Given the description of an element on the screen output the (x, y) to click on. 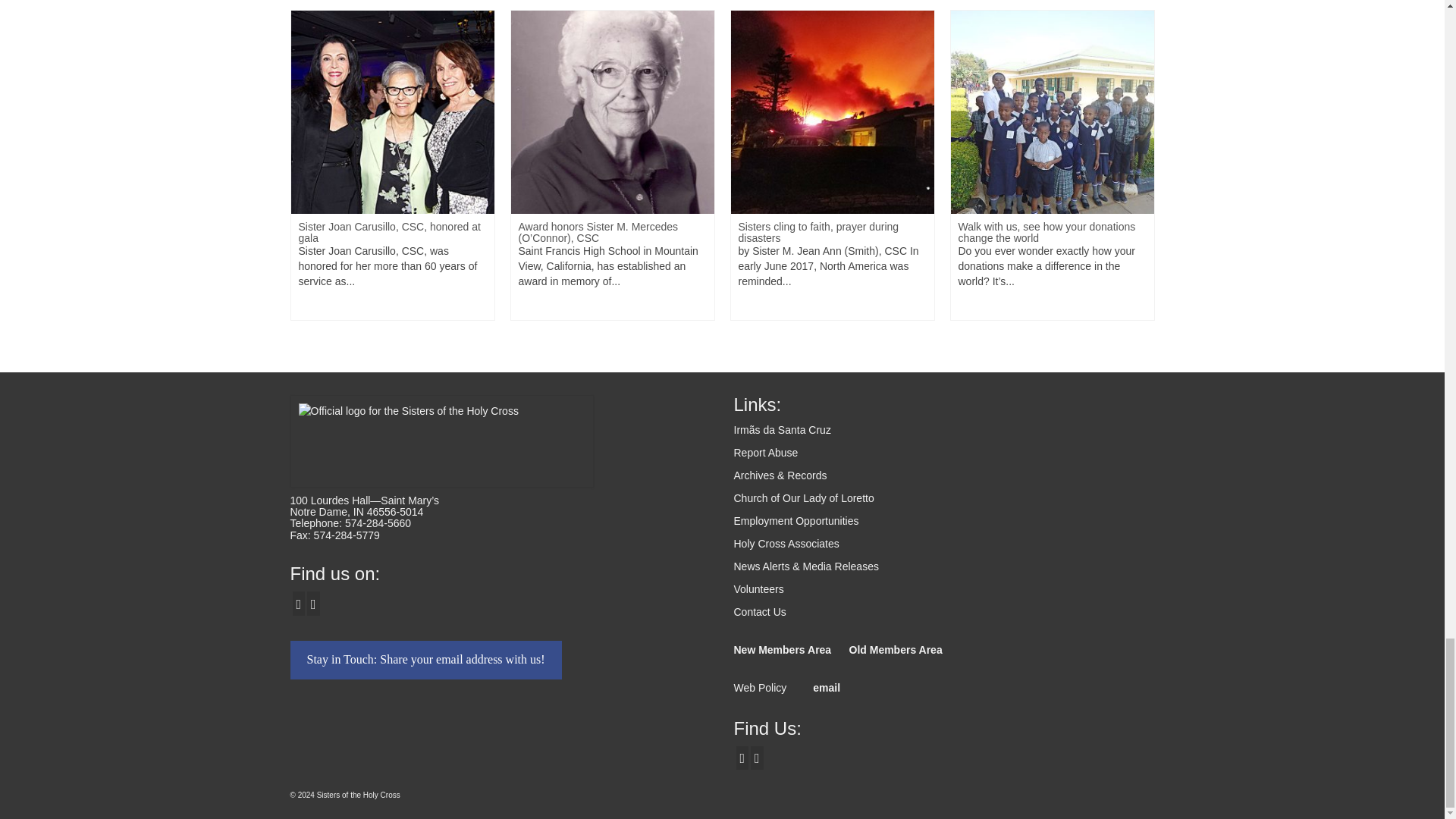
Sisters cling to faith, prayer during disasters (832, 111)
Sister Joan Carusillo, CSC, honored at gala (393, 111)
